Given the description of an element on the screen output the (x, y) to click on. 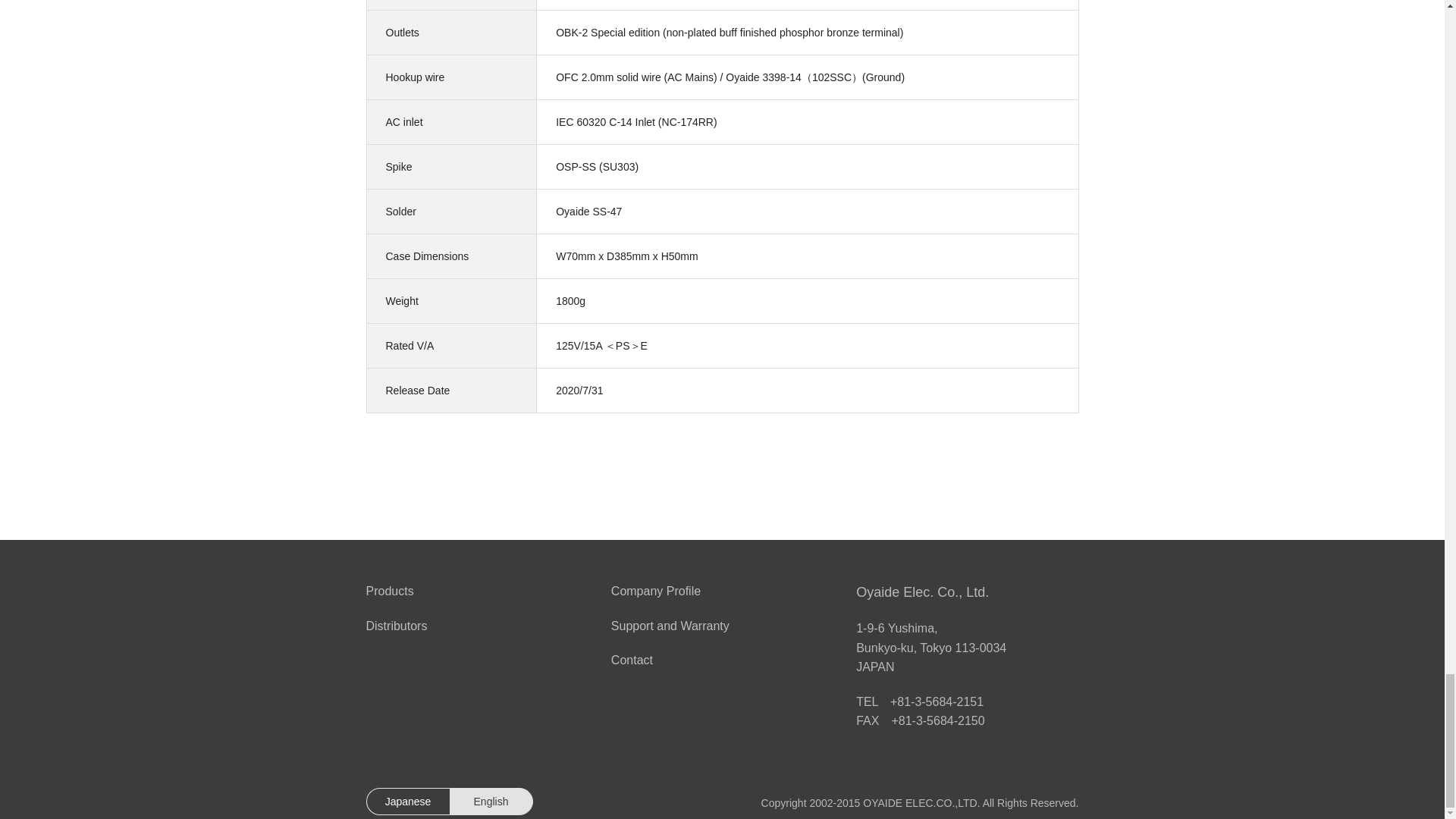
English (490, 800)
Japanese (406, 800)
